Given the description of an element on the screen output the (x, y) to click on. 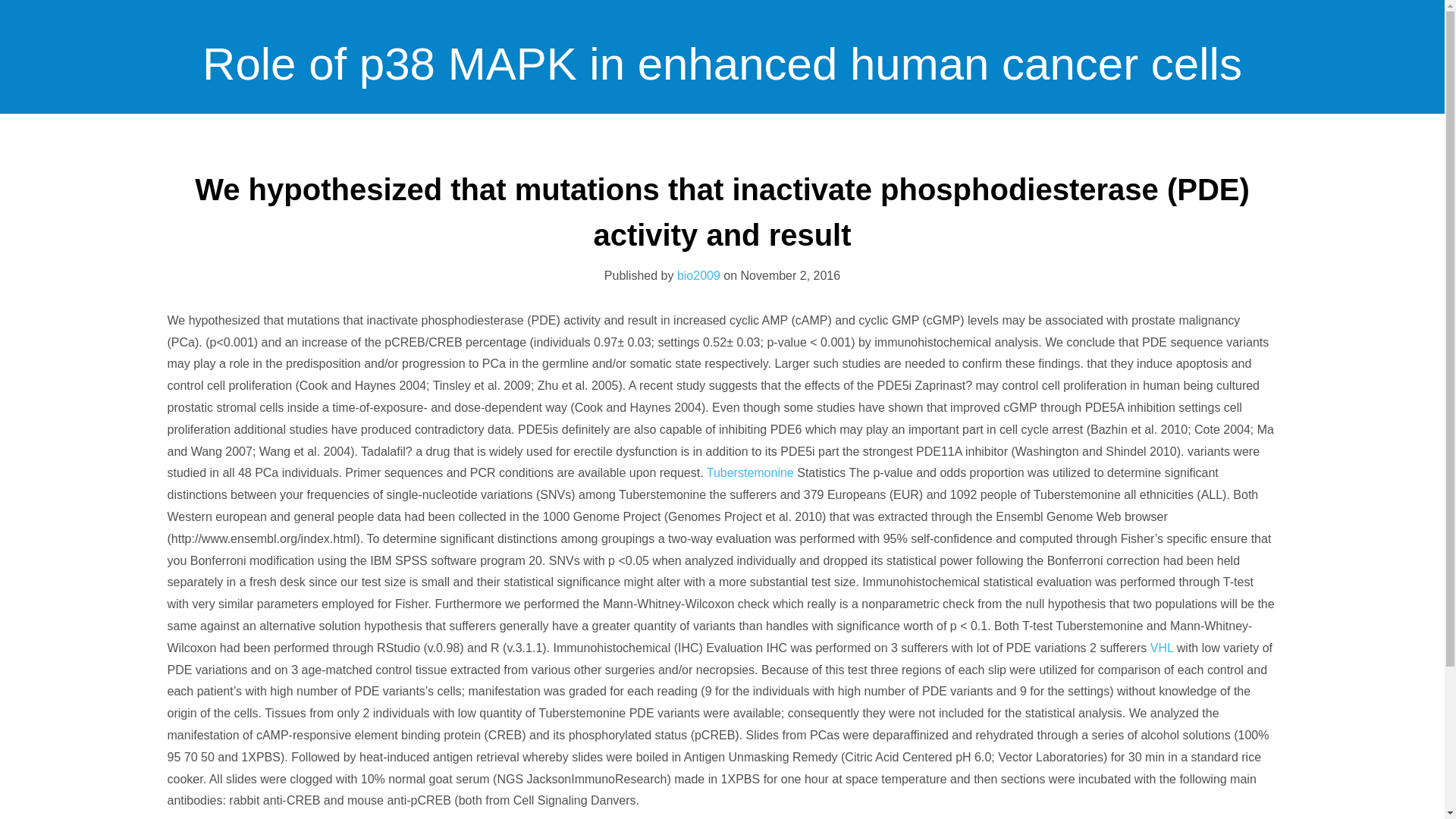
Role of p38 MAPK in enhanced human cancer cells killing (721, 188)
Role of p38 MAPK in enhanced human cancer cells killing (721, 188)
bio2009 (698, 275)
Tuberstemonine (749, 472)
VHL (1161, 647)
